Given the description of an element on the screen output the (x, y) to click on. 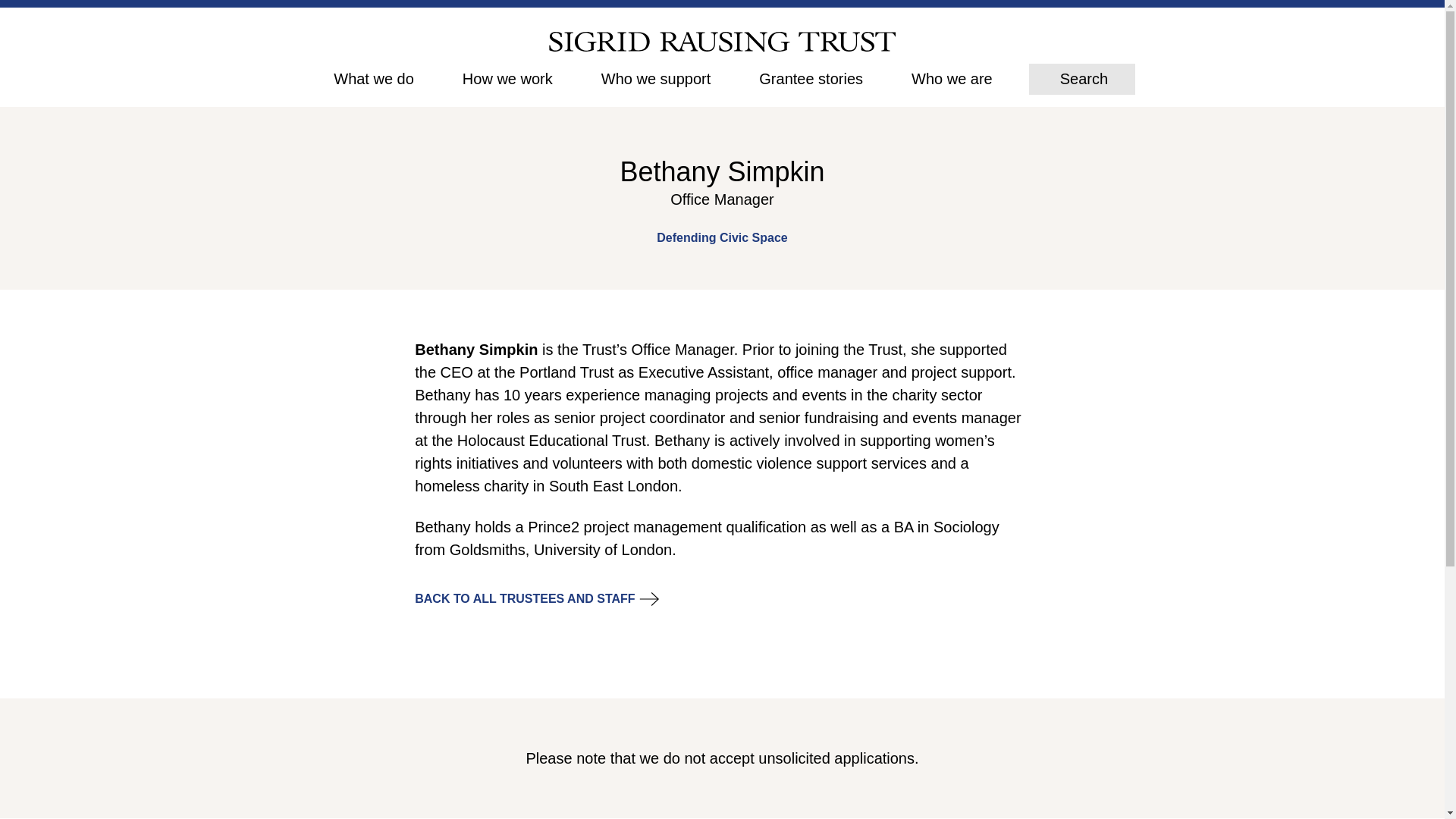
How we work (508, 78)
BACK TO ALL TRUSTEES AND STAFF (524, 598)
Who we support (656, 78)
Grantee stories (810, 78)
Defending Civic Space (721, 238)
Who we are (951, 78)
What we do (373, 78)
